Given the description of an element on the screen output the (x, y) to click on. 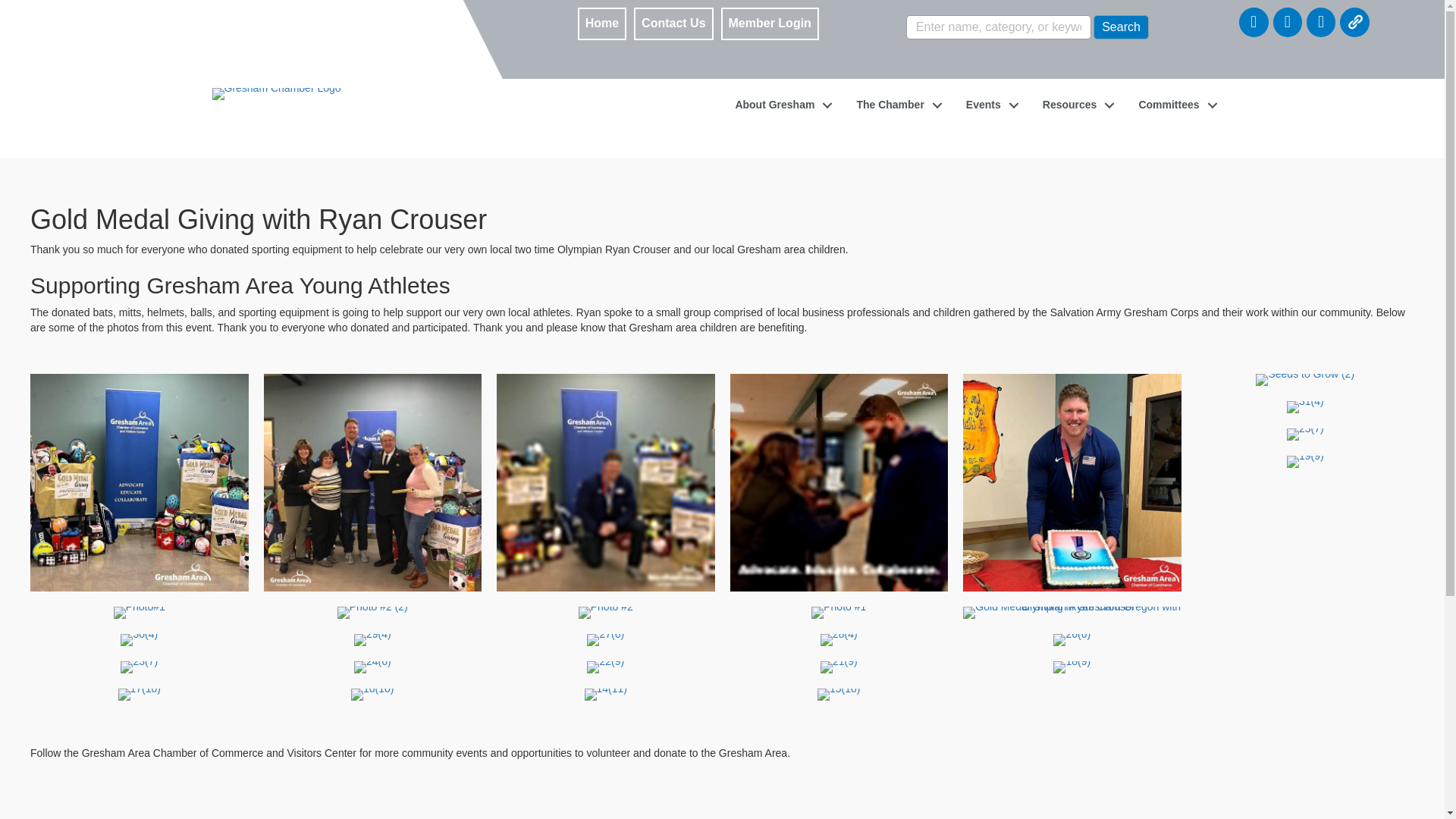
link-to-home-page (280, 54)
Member Login (769, 23)
Contact Us (673, 23)
Search (1120, 27)
Gold Medal Giving in Gresham Oregon (139, 482)
gresham-area-chamber-logo-sm (276, 93)
The Chamber (895, 105)
Home (601, 23)
About Gresham (779, 105)
Search (1120, 27)
